Given the description of an element on the screen output the (x, y) to click on. 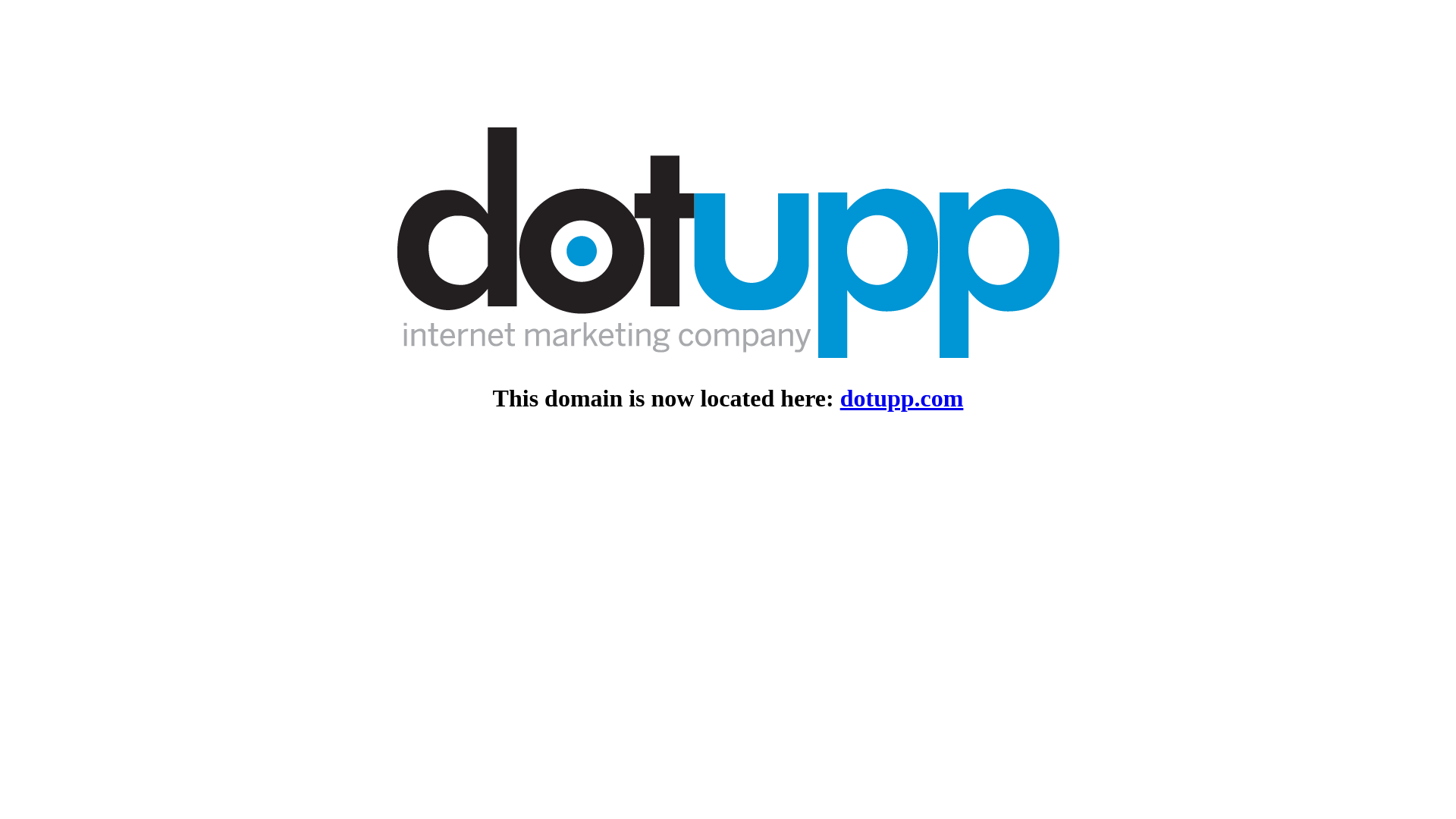
dotupp.com Element type: text (901, 397)
